Given the description of an element on the screen output the (x, y) to click on. 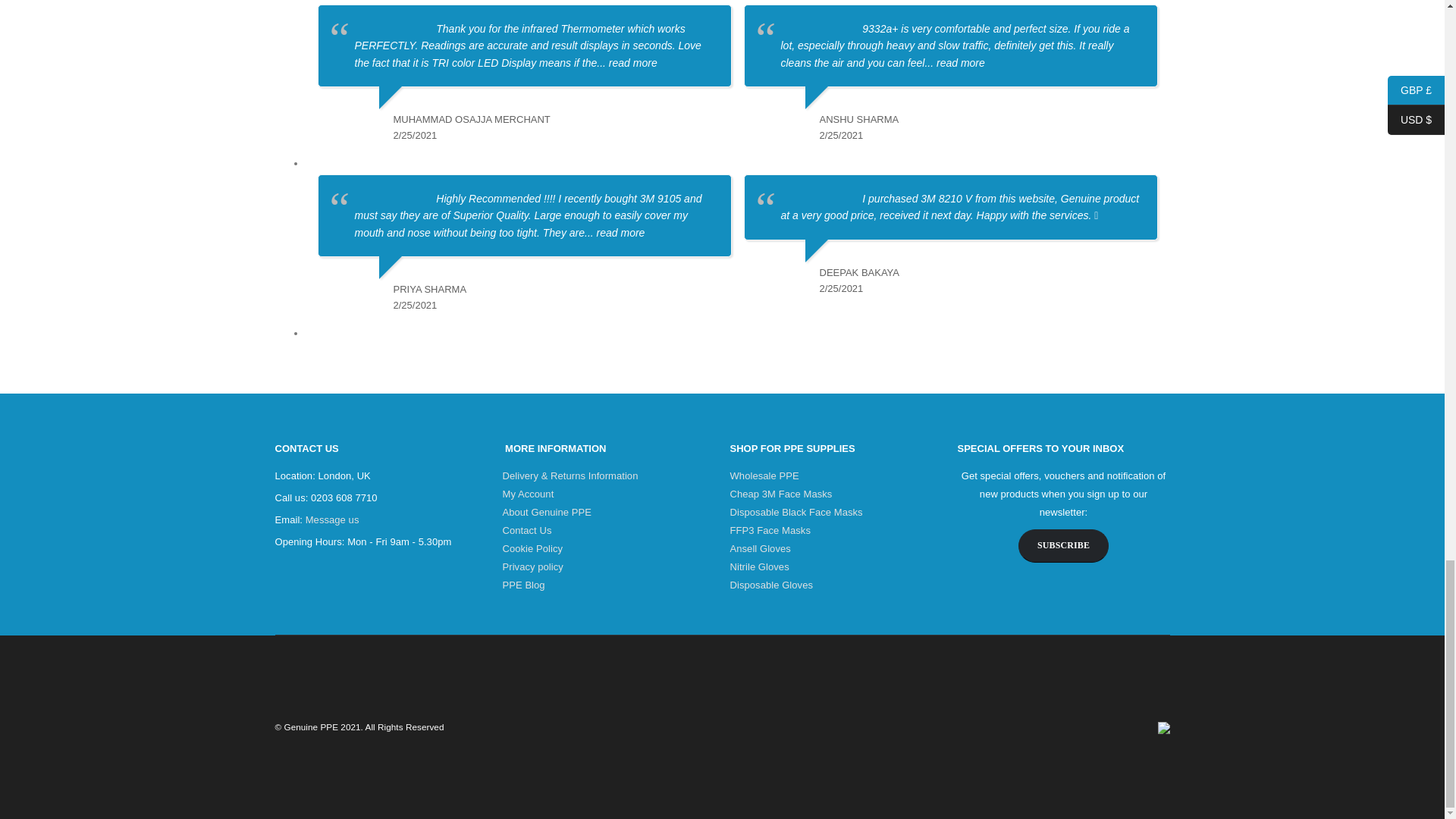
... read more (626, 62)
Ansell Gloves (759, 548)
PPE Blog (523, 584)
About Genuine PPE (546, 511)
FFP3 Face Masks (769, 530)
Privacy policy (532, 566)
Message us (332, 519)
... read more (954, 62)
Cheap 3M Face Masks (780, 493)
Contact Us (526, 530)
Disposable Black Face Masks (795, 511)
Nitrile Gloves (759, 566)
Cookie Policy (532, 548)
My Account (527, 493)
Wholesale PPE (763, 475)
